Given the description of an element on the screen output the (x, y) to click on. 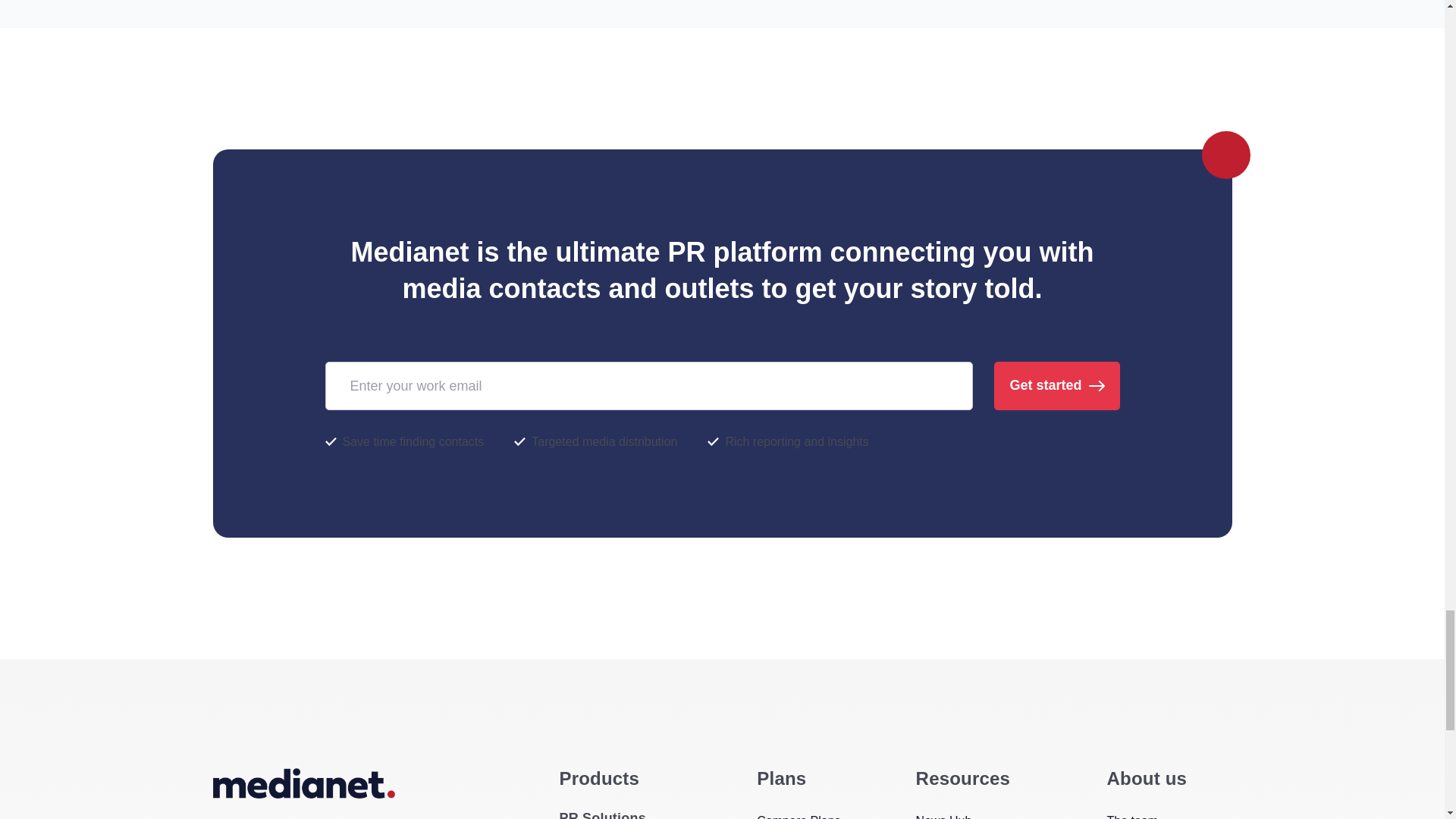
Get started (1056, 385)
Medianet logo RGB 2020 (303, 783)
MDN-Tick-White-Icon (330, 441)
MDN-Tick-White-Icon (519, 441)
MDN-Tick-White-Icon (713, 441)
